Given the description of an element on the screen output the (x, y) to click on. 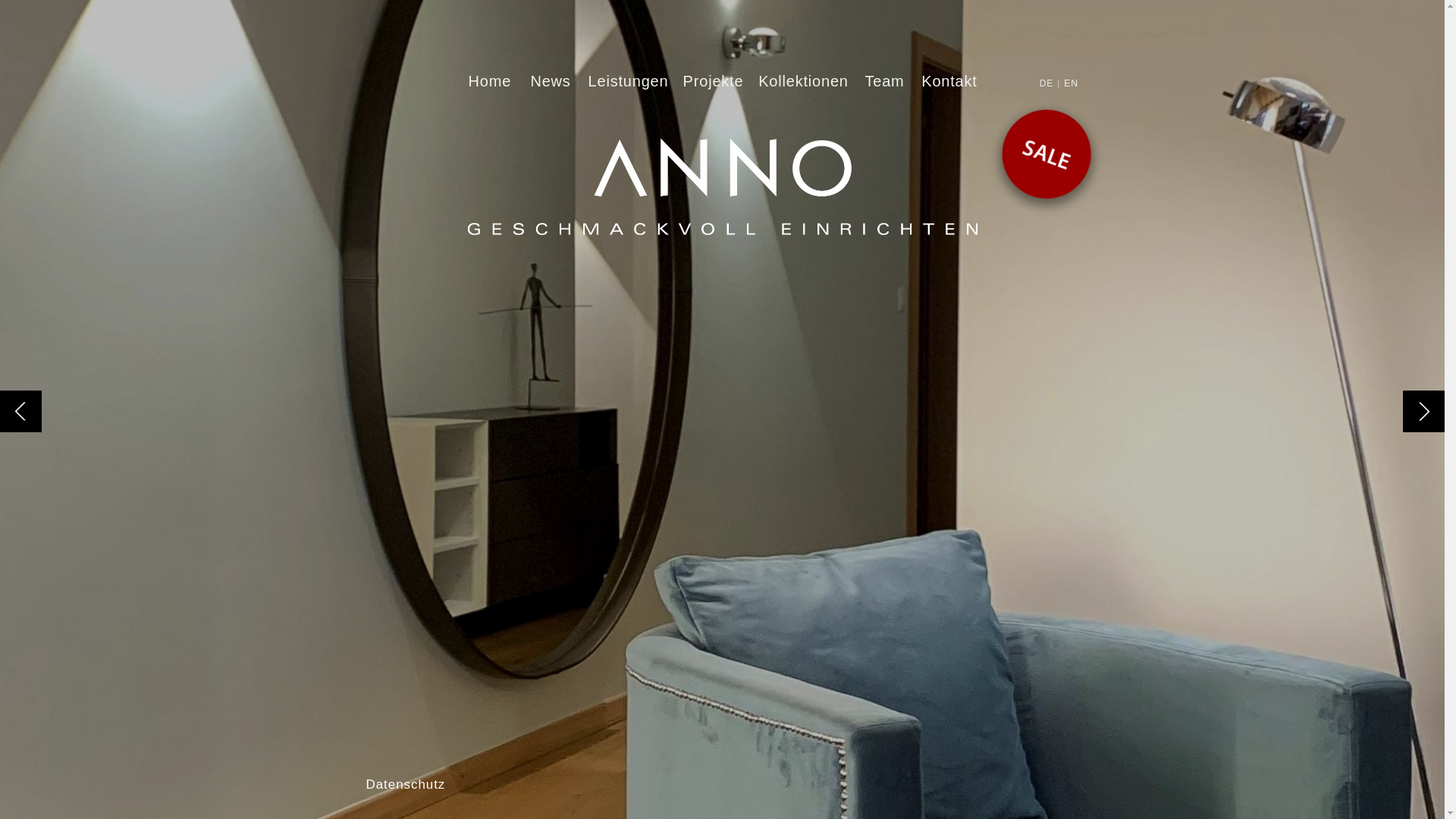
EN Element type: text (1070, 83)
Home Element type: text (494, 81)
Datenschutz Element type: text (405, 784)
Projekte Element type: text (712, 81)
Kollektionen Element type: text (802, 81)
Leistungen Element type: text (627, 81)
DE Element type: text (1046, 83)
Kontakt Element type: text (949, 81)
Team Element type: text (884, 81)
News Element type: text (550, 81)
